Given the description of an element on the screen output the (x, y) to click on. 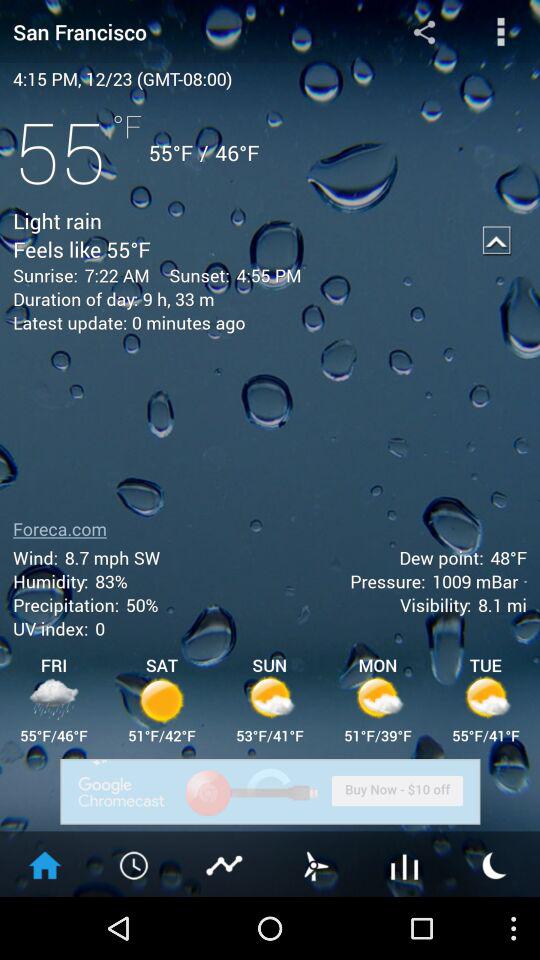
look at graphs (405, 864)
